Given the description of an element on the screen output the (x, y) to click on. 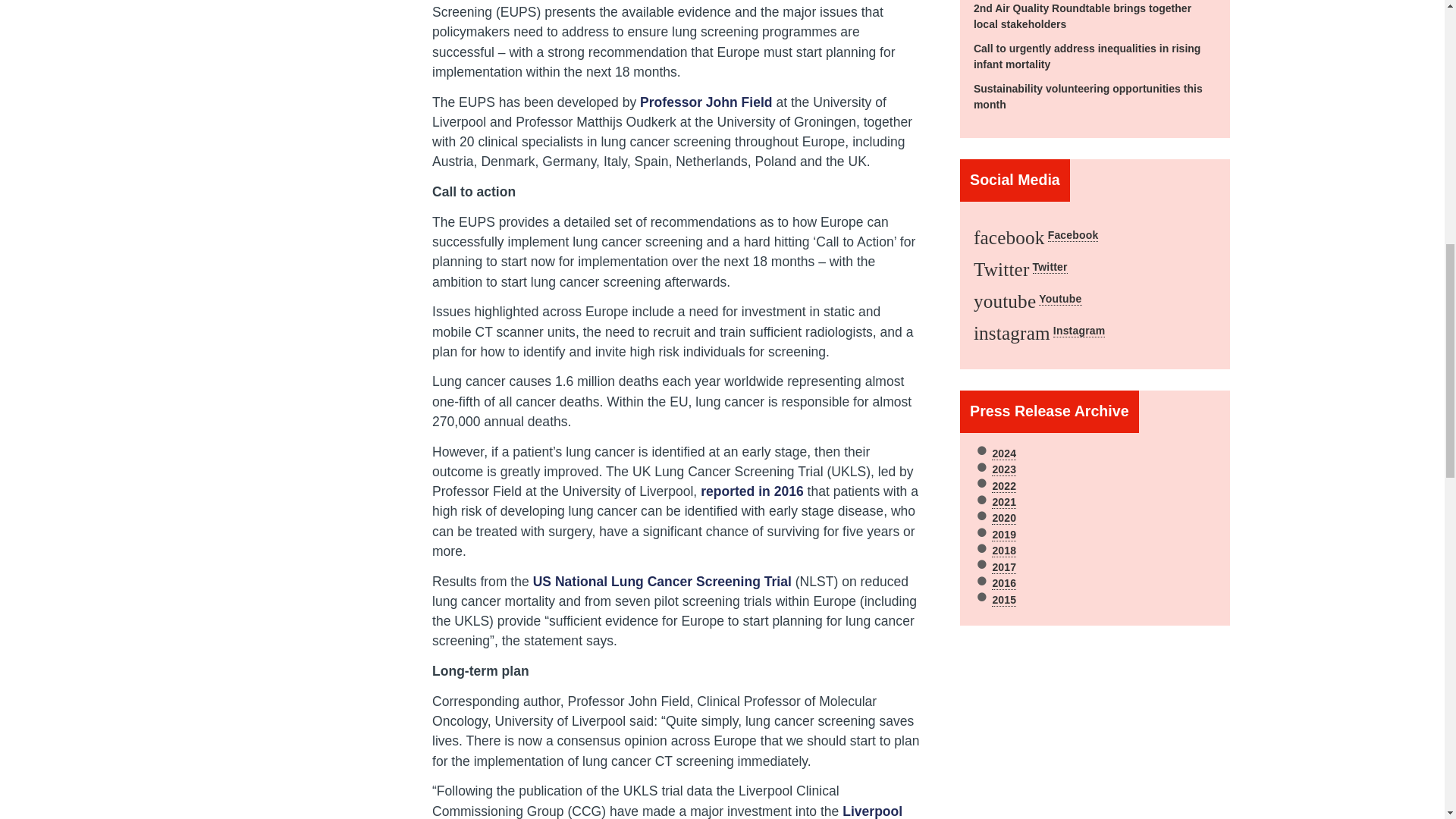
Sustainability volunteering opportunities this month (1088, 96)
